Given the description of an element on the screen output the (x, y) to click on. 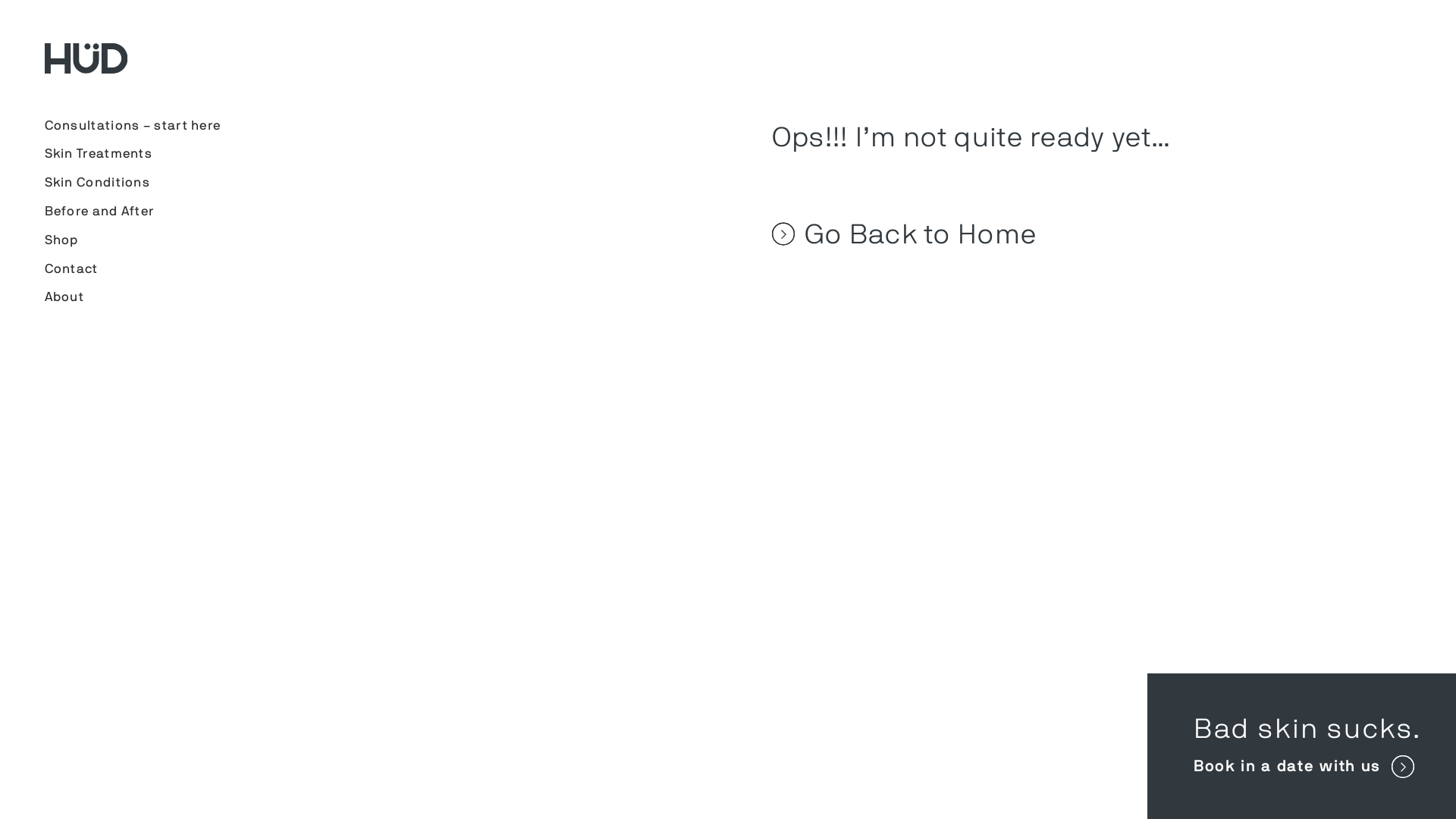
About Element type: text (63, 296)
Contact Element type: text (70, 268)
Skin Conditions Element type: text (96, 181)
Skin Treatments Element type: text (97, 152)
Go Back to Home Element type: text (1071, 233)
Before and After Element type: text (98, 210)
Shop Element type: text (60, 239)
